Given the description of an element on the screen output the (x, y) to click on. 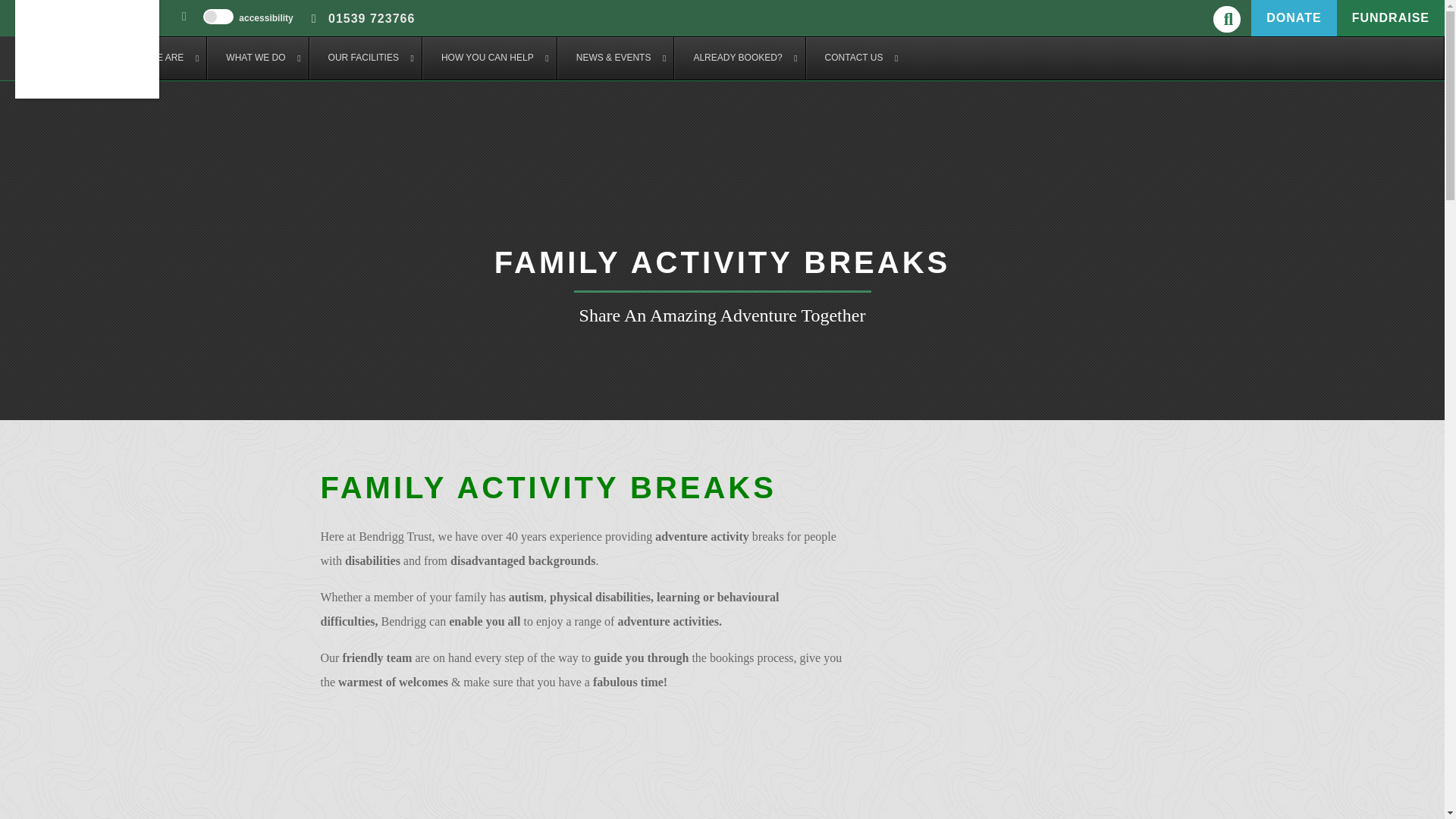
01539 723766 (355, 18)
OUR FACILITIES (365, 57)
WHO WE ARE (154, 57)
WHAT WE DO (256, 57)
DONATE (1293, 18)
HOW YOU CAN HELP (489, 57)
